Given the description of an element on the screen output the (x, y) to click on. 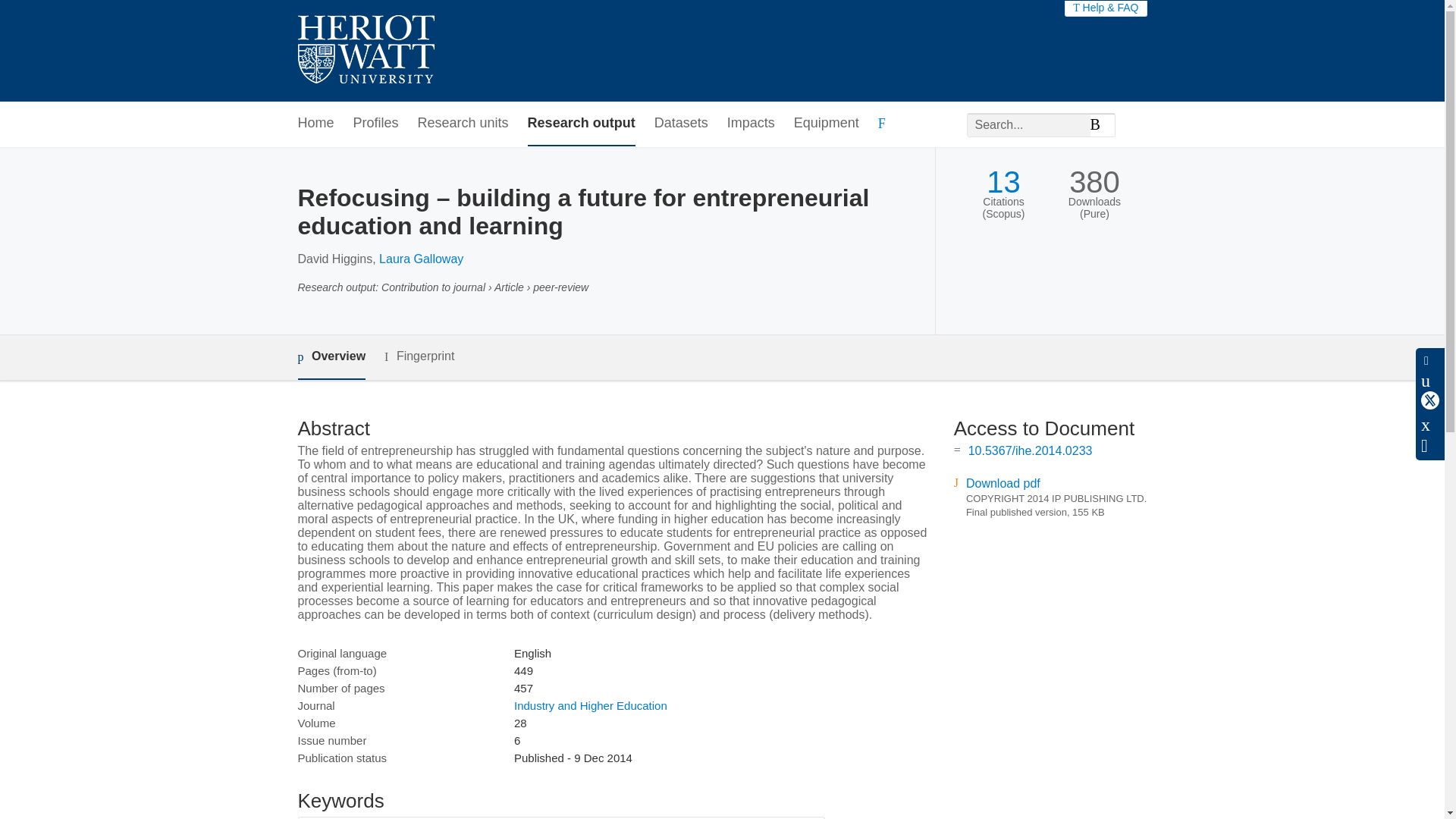
Fingerprint (419, 356)
Impacts (750, 123)
Datasets (680, 123)
Equipment (826, 123)
Overview (331, 357)
Research units (462, 123)
13 (1003, 181)
Laura Galloway (420, 258)
Download pdf (1003, 482)
